Given the description of an element on the screen output the (x, y) to click on. 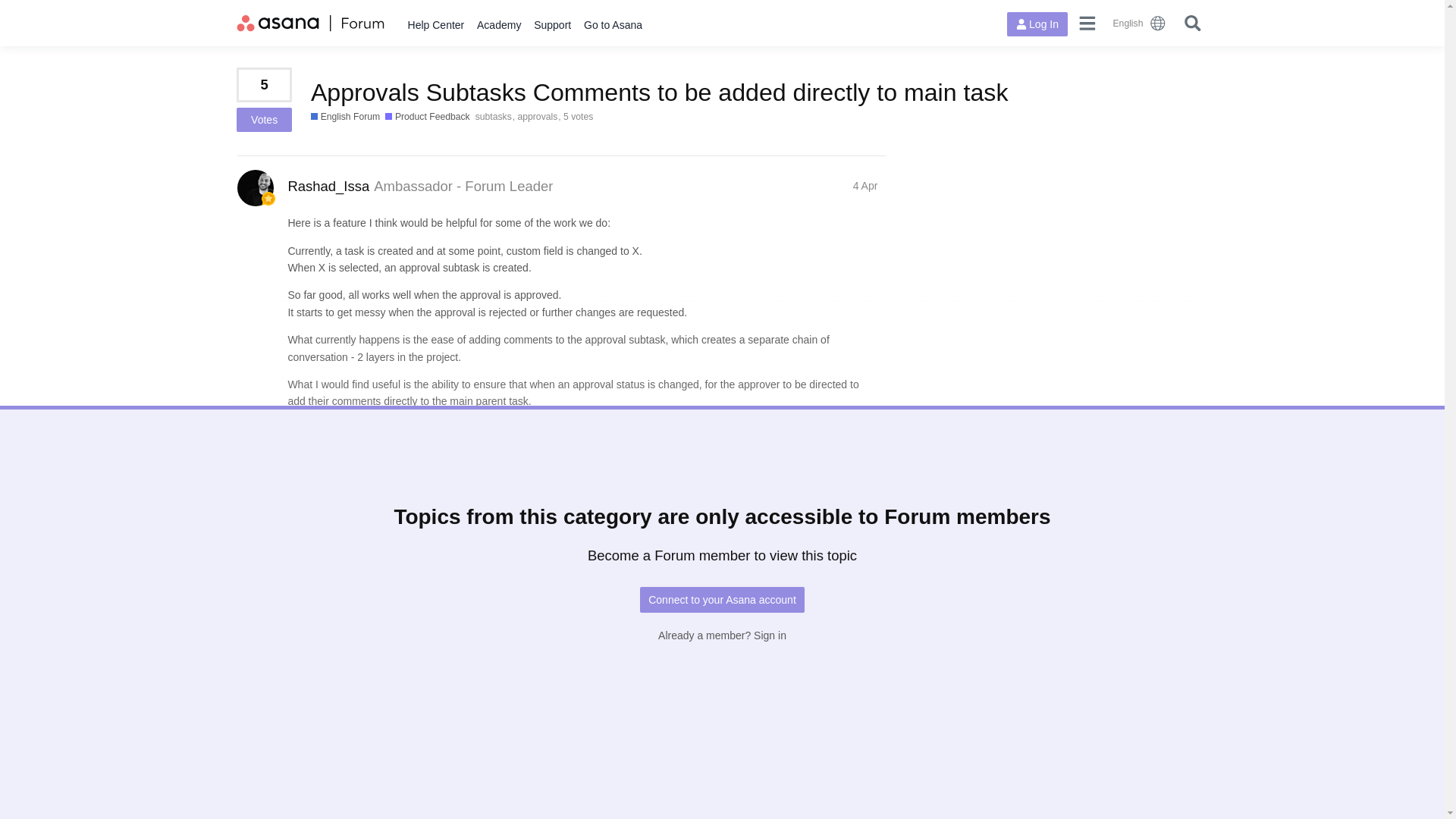
subtasks (497, 116)
Ambassador - Forum Leader (463, 186)
international forums (1139, 22)
Please sign up or log in to like this post (841, 522)
Support (552, 25)
The Asana Community Forum (345, 116)
Search (1192, 22)
approvals (291, 574)
